Given the description of an element on the screen output the (x, y) to click on. 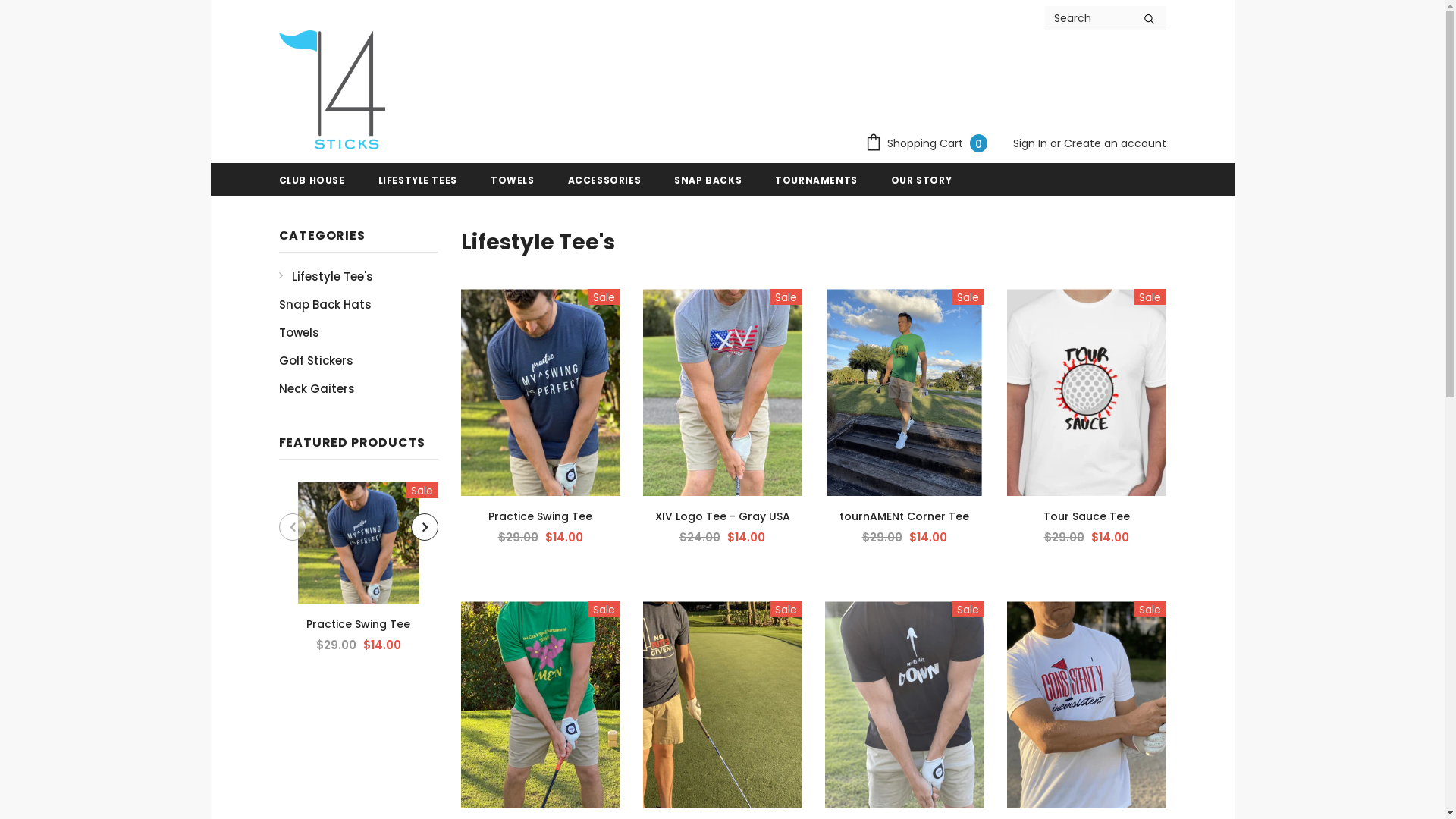
Practice Swing Tee Element type: text (358, 624)
Create an account Element type: text (1114, 142)
SNAP BACKS Element type: text (707, 179)
TOWELS Element type: text (512, 179)
ACCESSORIES Element type: text (604, 179)
CLUB HOUSE Element type: text (312, 179)
XIV Logo Tee - Gray USA Element type: text (722, 516)
Shopping Cart 0 Element type: text (929, 144)
Practice Swing Tee Element type: text (540, 516)
Neck Gaiters Element type: text (316, 388)
Tour Sauce Tee Element type: text (1086, 516)
tournAMENt Corner Tee Element type: text (904, 516)
Golf Stickers Element type: text (316, 360)
Logo Element type: hover (332, 91)
Sign In Element type: text (1031, 142)
Towels Element type: text (299, 332)
TOURNAMENTS Element type: text (816, 179)
Lifestyle Tee's Element type: text (326, 276)
OUR STORY Element type: text (921, 179)
LIFESTYLE TEES Element type: text (416, 179)
Snap Back Hats Element type: text (325, 304)
